Given the description of an element on the screen output the (x, y) to click on. 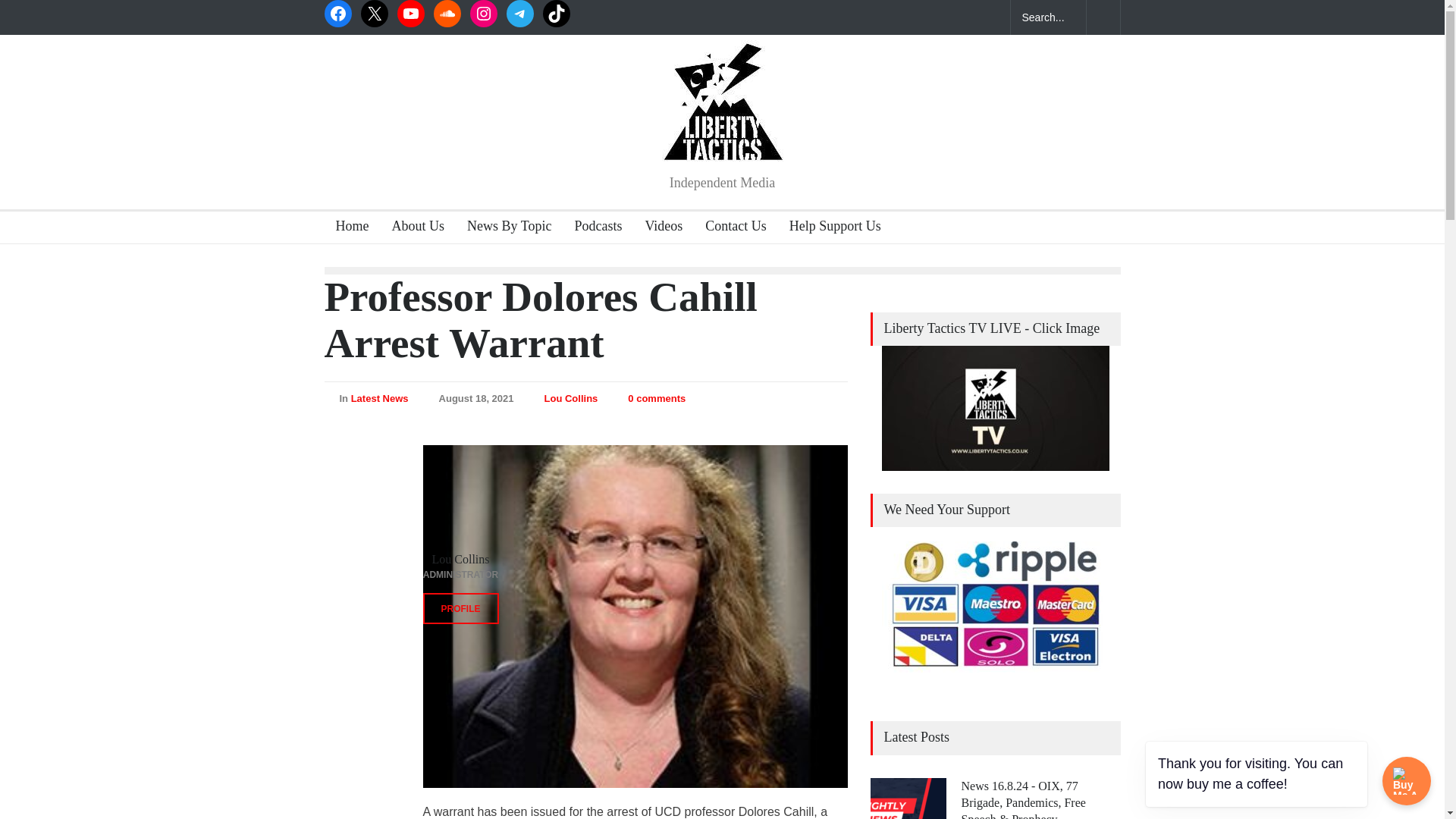
Rumble (411, 13)
Home (346, 227)
Search... (1048, 17)
Professor Dolores Cahill Arrest Warrant (540, 319)
Help Support Us (828, 227)
0 comments (656, 398)
Instagram (483, 13)
Podcasts (591, 227)
0 comments (648, 398)
Lou Collins (571, 398)
